Given the description of an element on the screen output the (x, y) to click on. 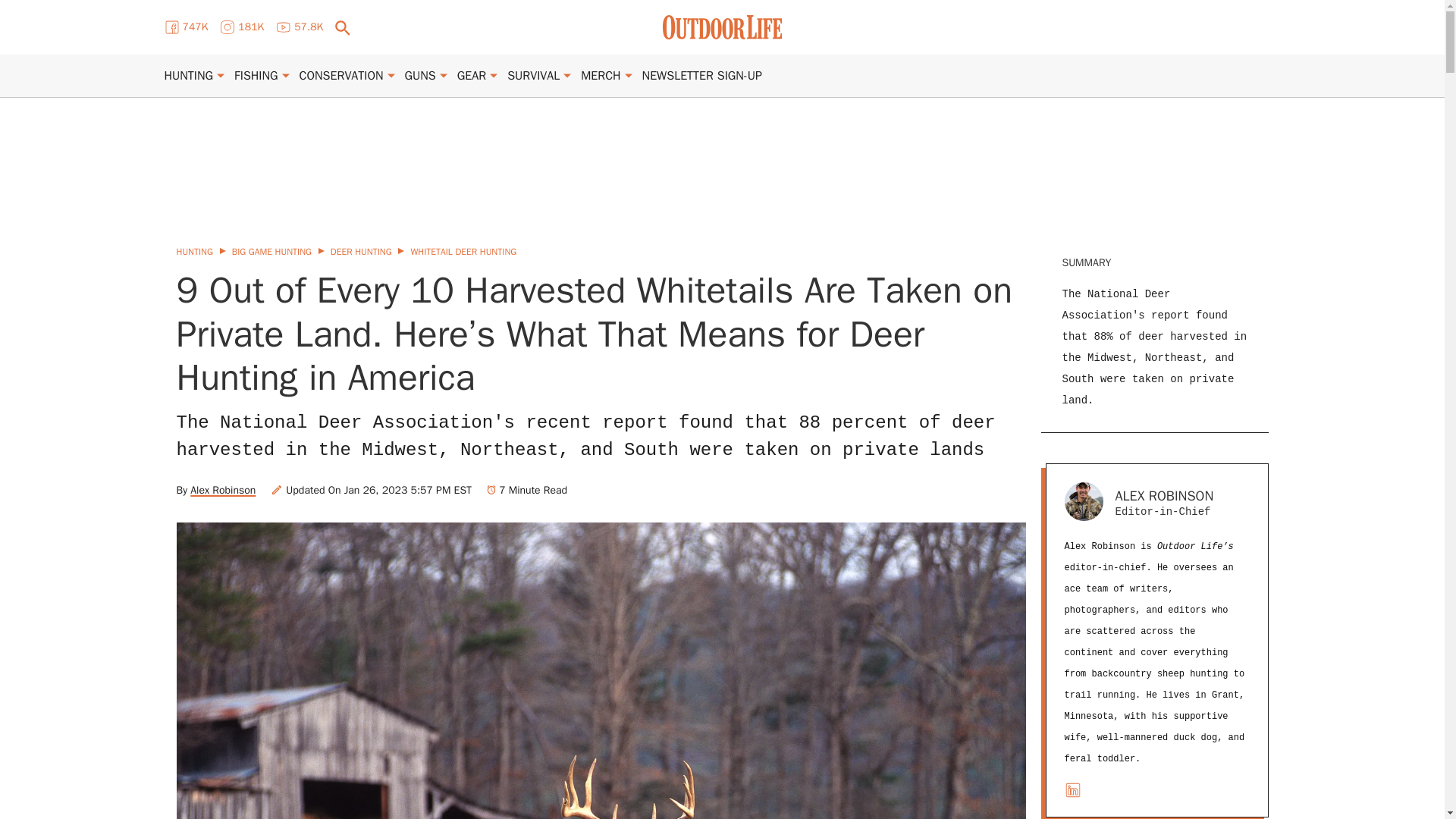
Fishing (256, 75)
Conservation (341, 75)
Survival (532, 75)
Guns (419, 75)
Merch (600, 75)
Gear (471, 75)
Newsletter Sign-up (701, 75)
Hunting (187, 75)
